Given the description of an element on the screen output the (x, y) to click on. 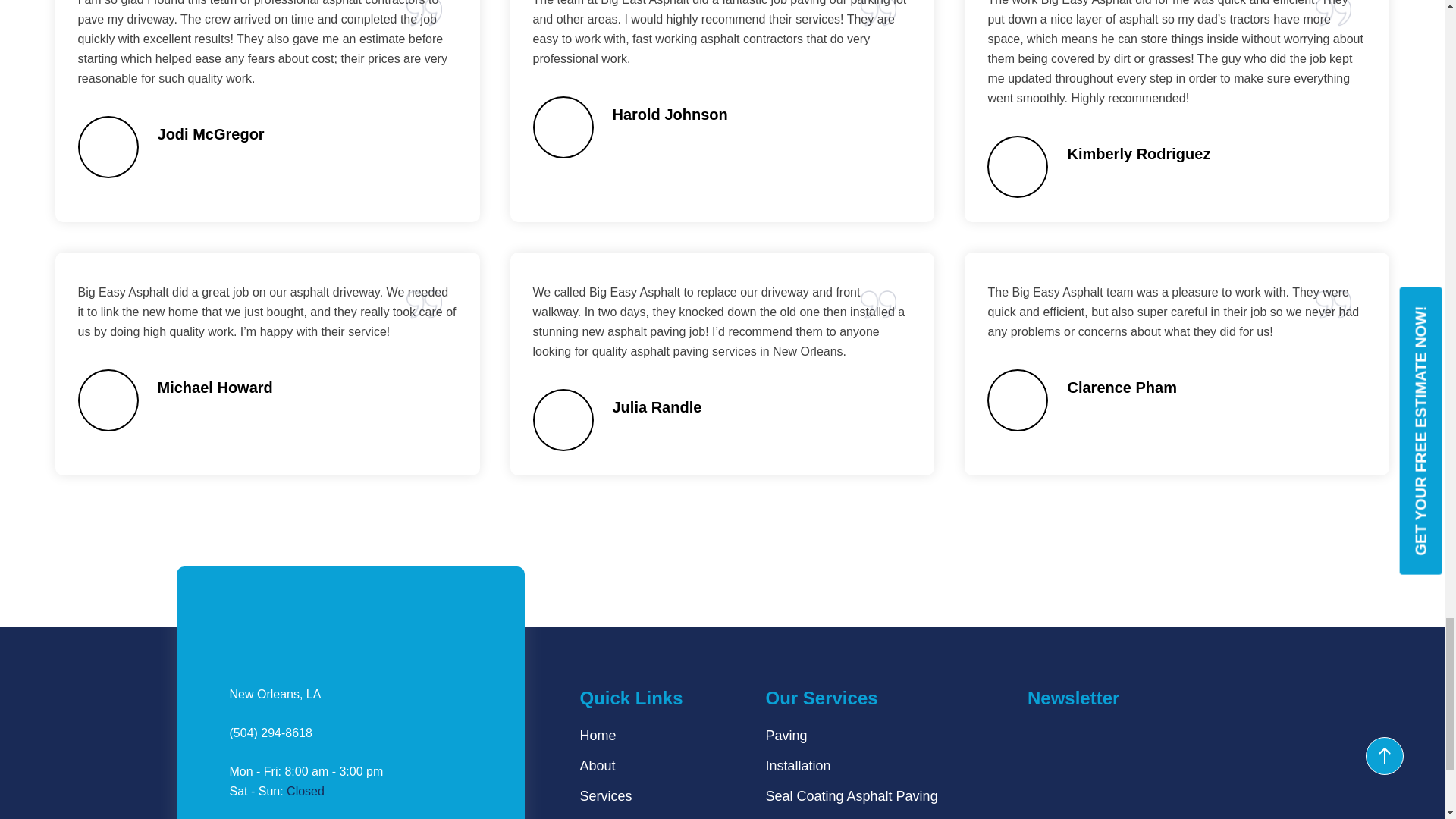
jodi mcgregor (108, 146)
Untitled (108, 399)
harold johnson (562, 126)
Untitled (1017, 399)
footer-logo (273, 619)
Kimberly Rodriguez (1017, 165)
Untitled (562, 418)
